Given the description of an element on the screen output the (x, y) to click on. 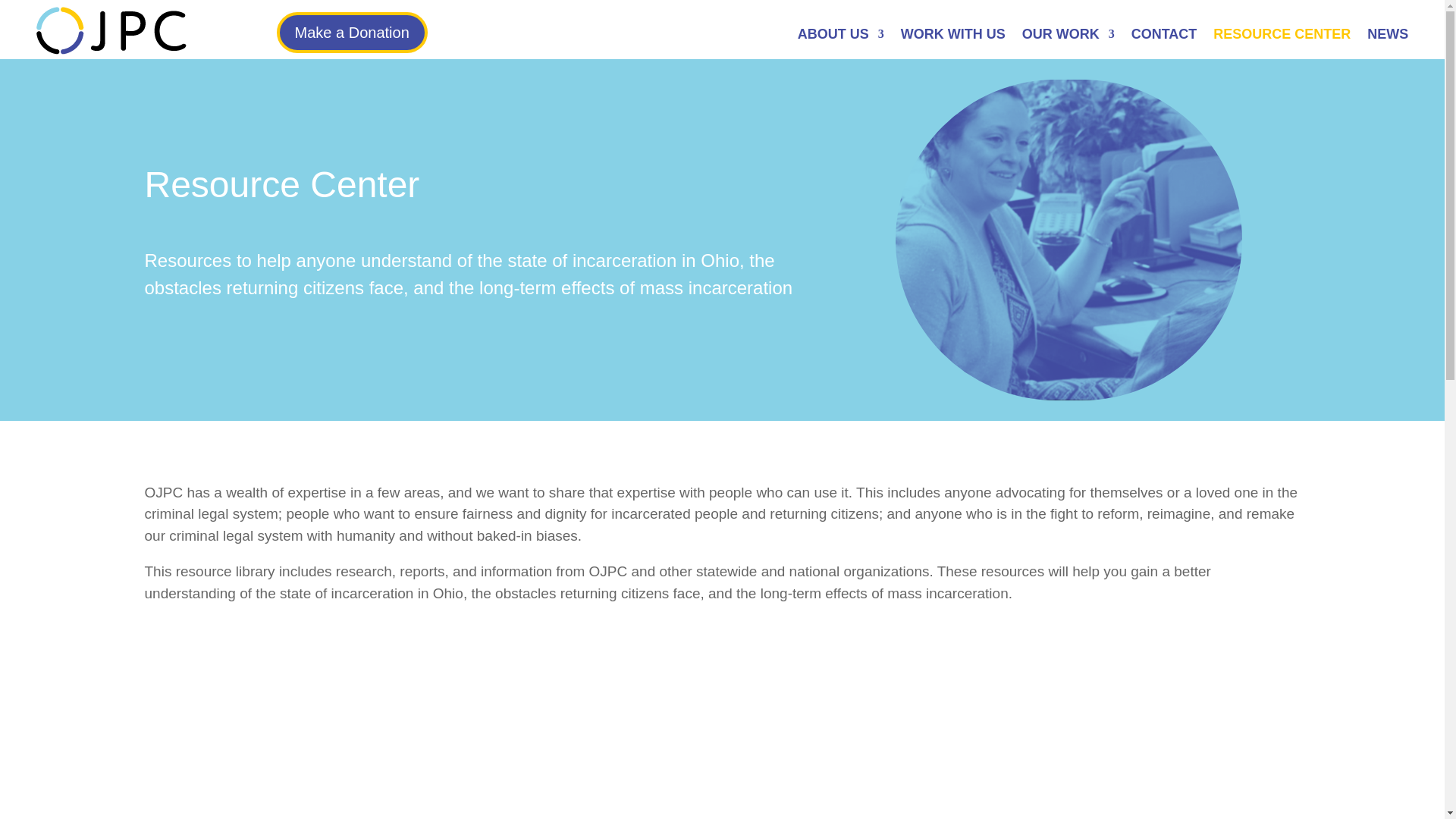
NEWS (1387, 36)
logo-compact (111, 30)
RESOURCE CENTER (1281, 36)
OUR WORK (1068, 36)
WORK WITH US (953, 36)
ABOUT US (840, 36)
Make a Donation (352, 32)
sashablue (1068, 239)
CONTACT (1163, 36)
